Given the description of an element on the screen output the (x, y) to click on. 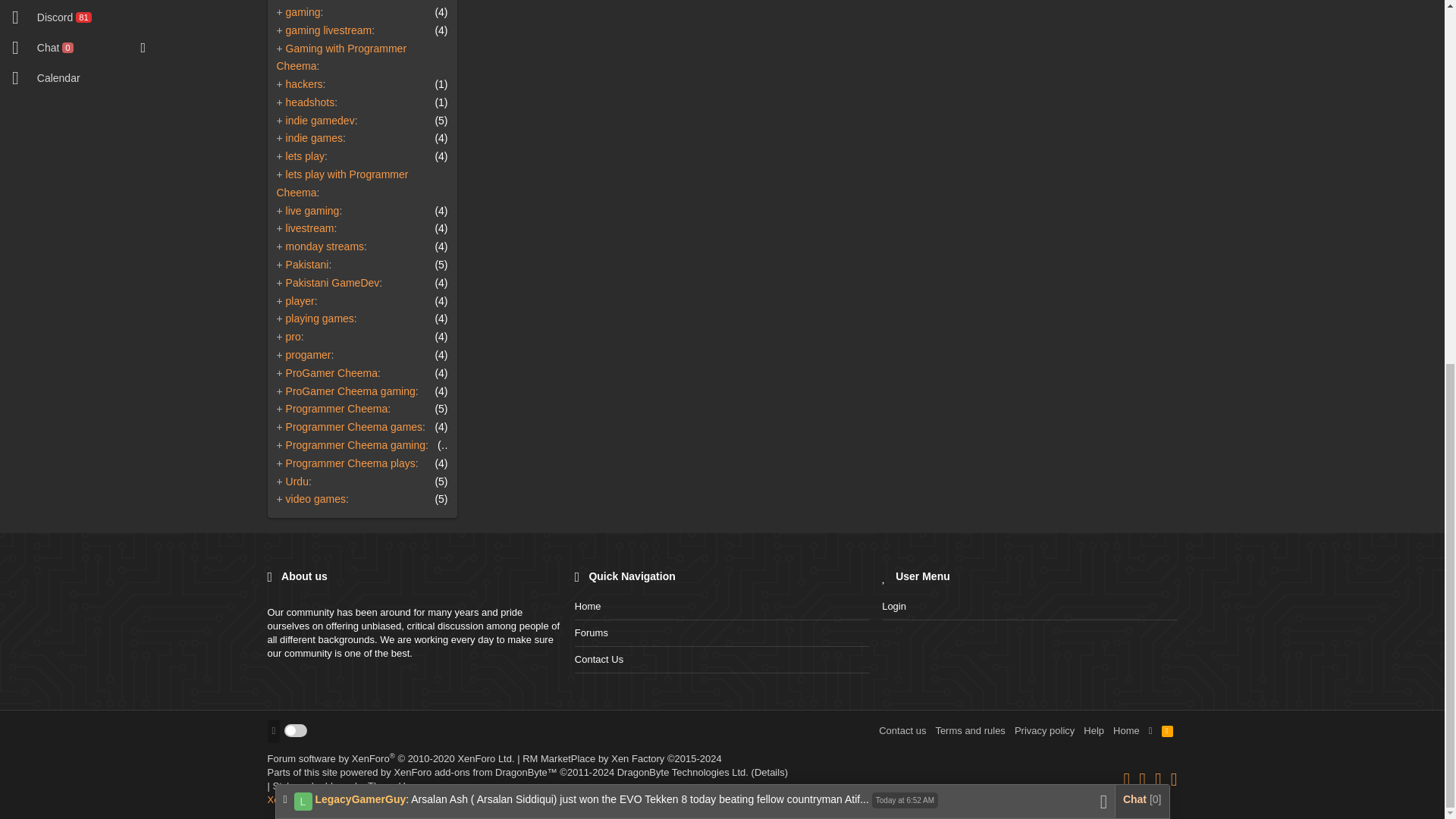
Toggle style (295, 730)
RSS (1167, 730)
XenForo Add-ons (621, 758)
